Given the description of an element on the screen output the (x, y) to click on. 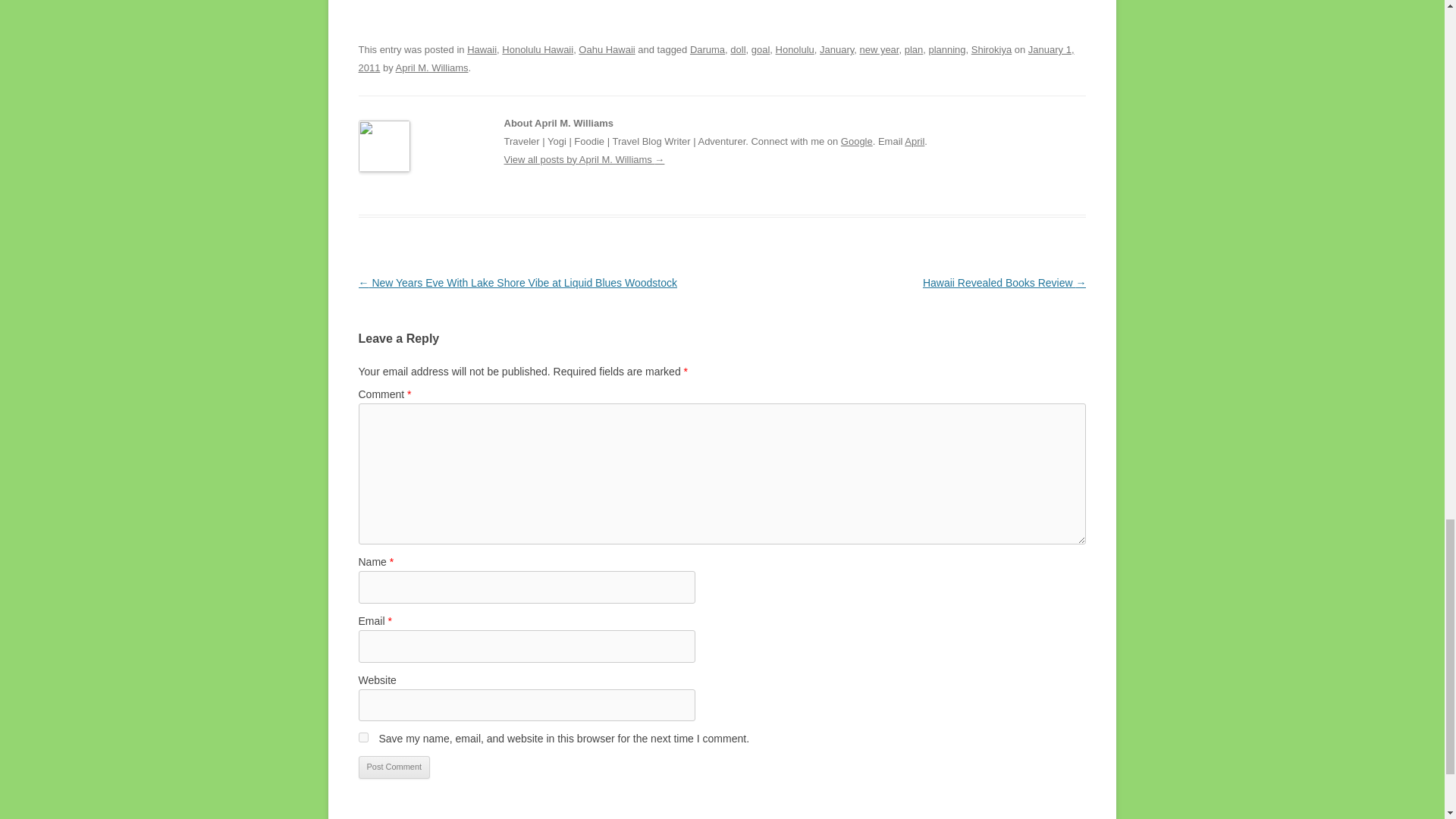
Post Comment (393, 766)
January 1, 2011 (716, 58)
yes (363, 737)
April M. Williams (432, 67)
Email April M. Williams (914, 141)
January (836, 49)
Daruma (707, 49)
Oahu Hawaii (606, 49)
plan (913, 49)
2:04 PM (716, 58)
